Given the description of an element on the screen output the (x, y) to click on. 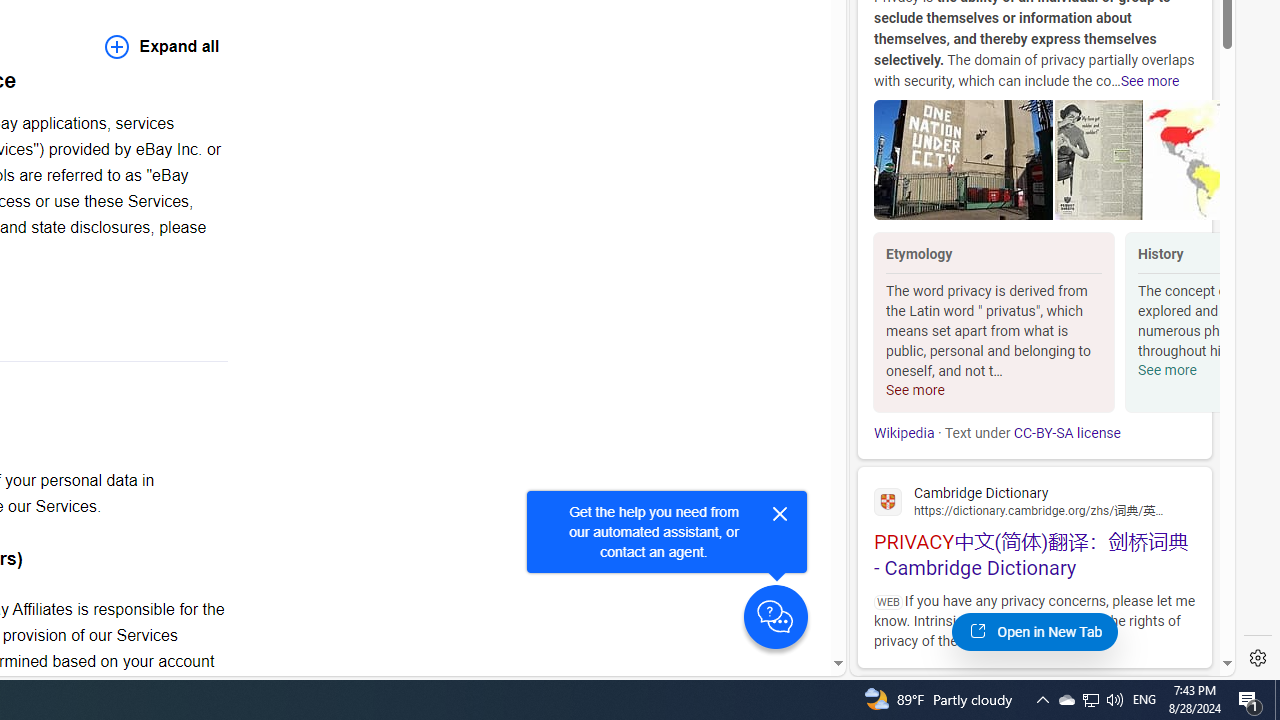
Cambridge Dictionary (1034, 500)
CC-BY-SA license (1066, 433)
Global web icon (888, 501)
Expand all (162, 45)
Settings (1258, 658)
Wikipedia (904, 433)
Click to scroll right (1196, 324)
